Given the description of an element on the screen output the (x, y) to click on. 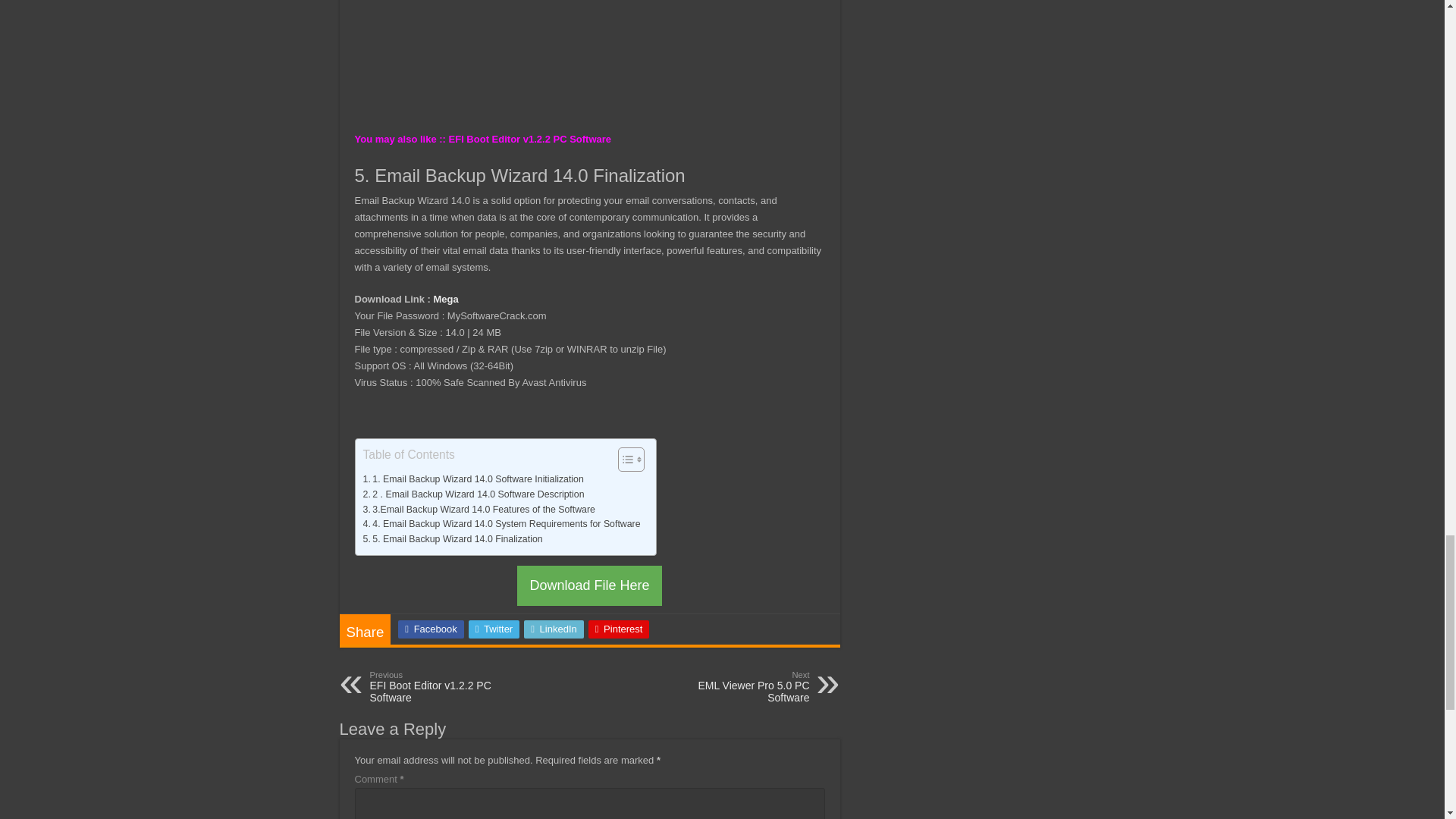
EFI Boot Editor v1.2.2 PC Software (529, 138)
2 . Email Backup Wizard 14.0 Software Description  (474, 494)
Mega (445, 298)
1. Email Backup Wizard 14.0 Software Initialization (472, 479)
4. Email Backup Wizard 14.0 System Requirements for Software (501, 524)
3.Email Backup Wizard 14.0 Features of the Software (478, 509)
